Given the description of an element on the screen output the (x, y) to click on. 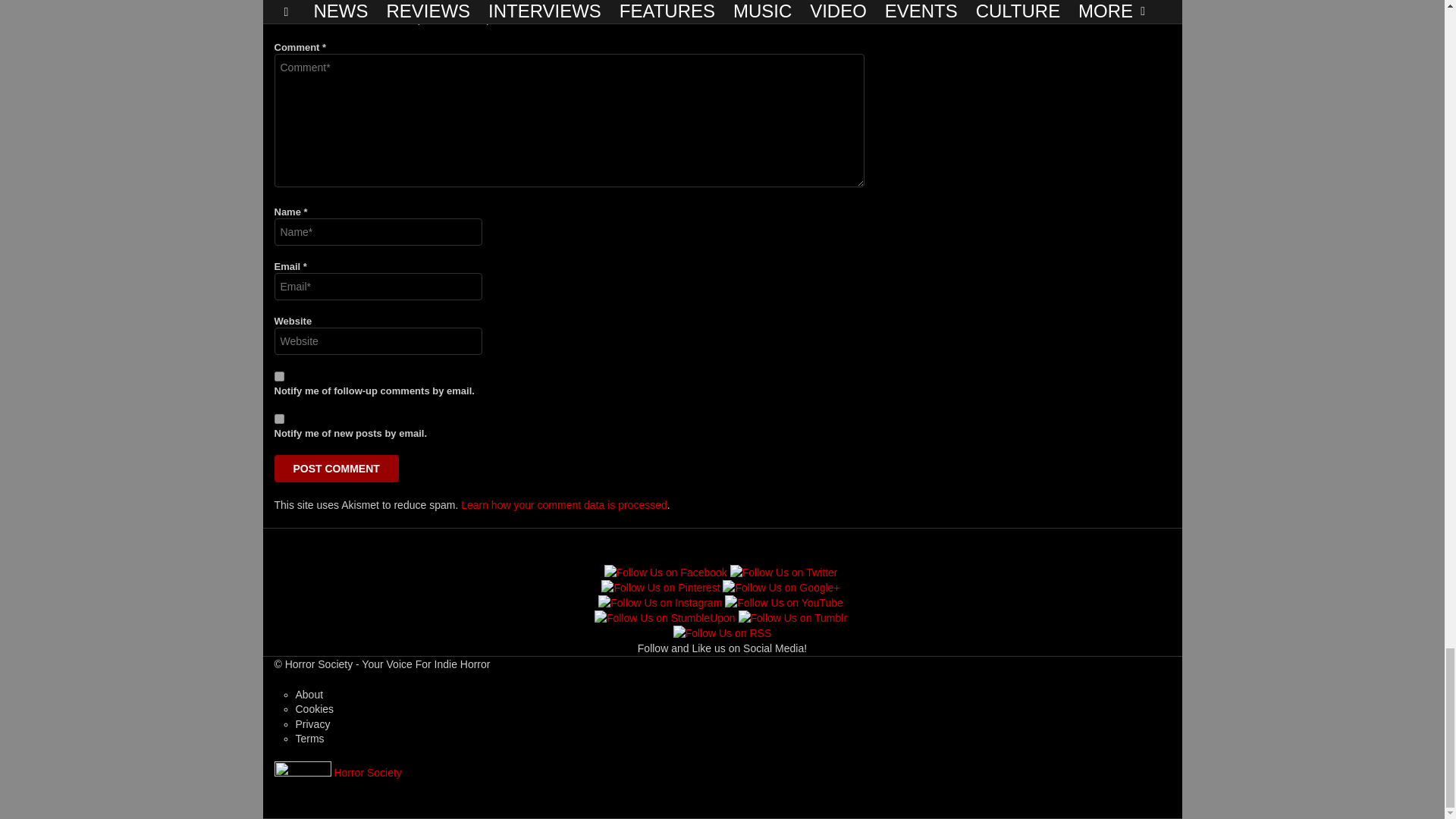
subscribe (279, 376)
Post Comment (336, 468)
subscribe (279, 419)
